Given the description of an element on the screen output the (x, y) to click on. 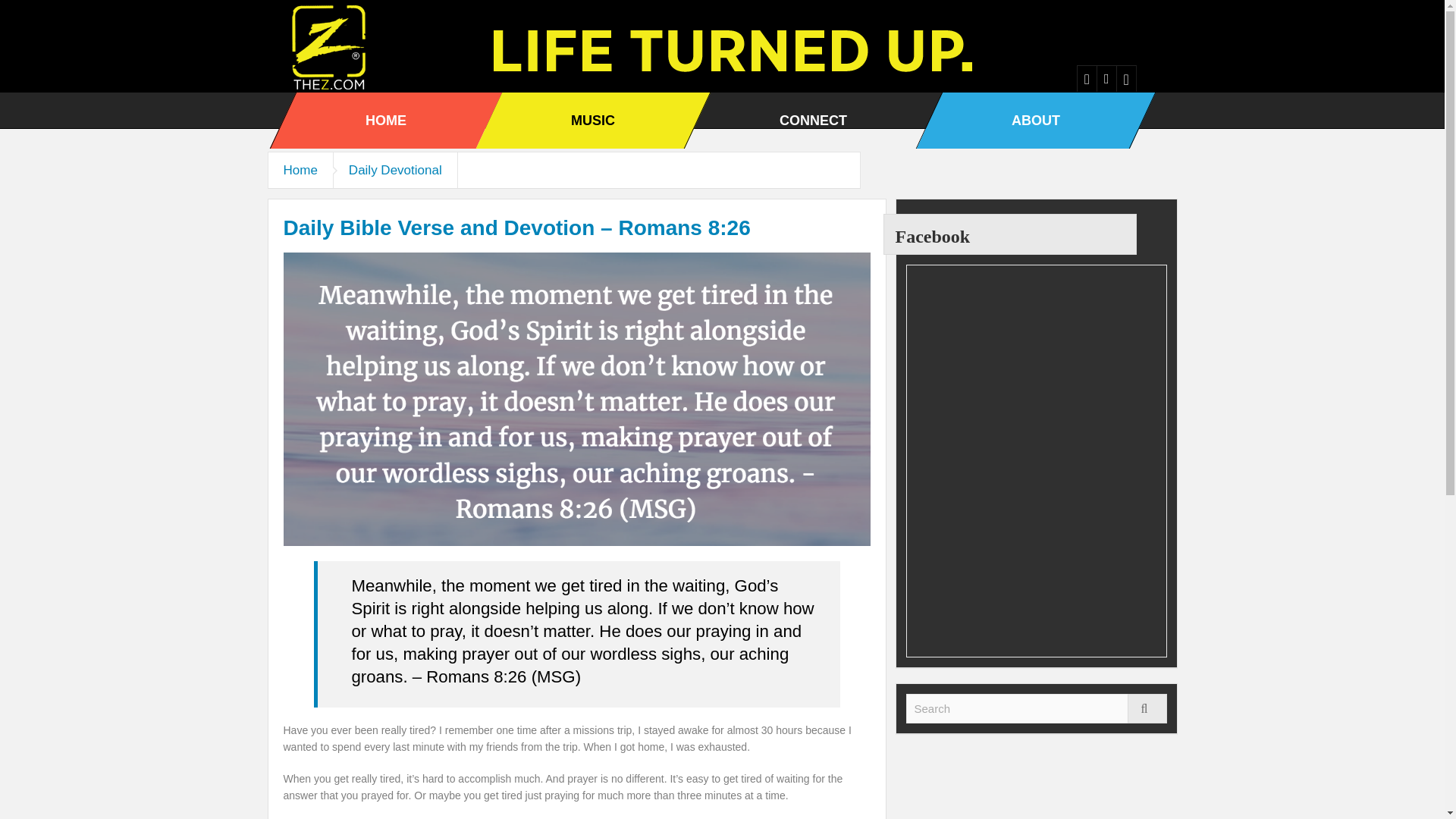
Daily Devotional (395, 170)
The Z (331, 46)
Home (300, 170)
Search (1035, 708)
Daily Devotional (395, 170)
CONNECT (812, 120)
ABOUT (1035, 120)
MUSIC (591, 120)
Search (1035, 708)
Search (1146, 708)
HOME (385, 120)
Search for: (1035, 708)
